Given the description of an element on the screen output the (x, y) to click on. 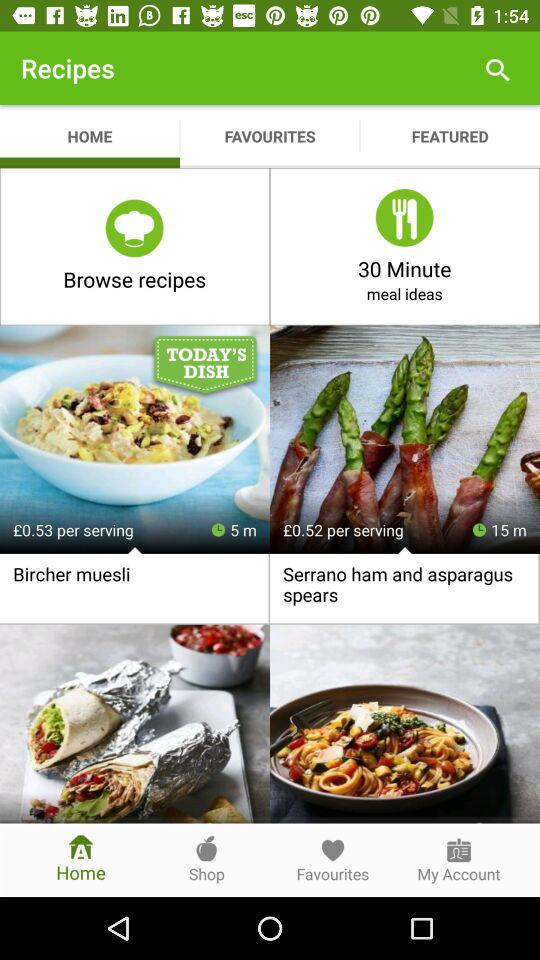
select the app next to favourites (450, 136)
